Given the description of an element on the screen output the (x, y) to click on. 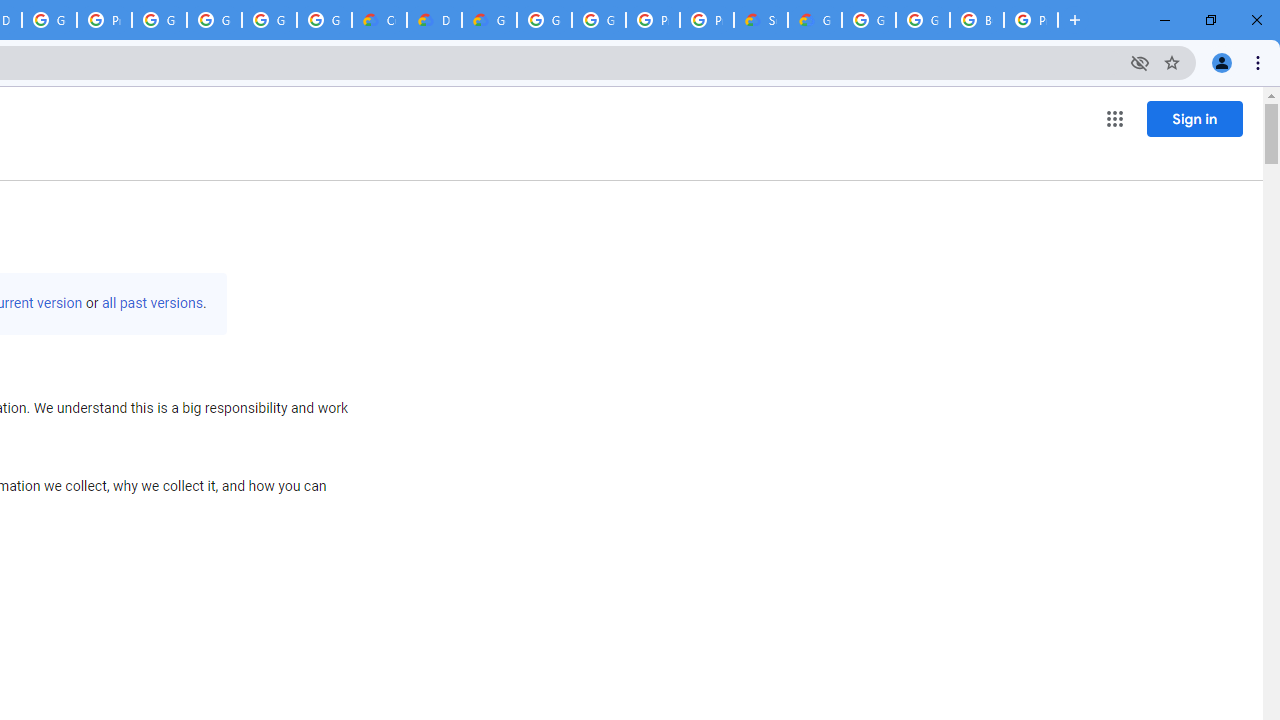
all past versions (152, 303)
Google Workspace - Specific Terms (268, 20)
Support Hub | Google Cloud (760, 20)
Google Workspace - Specific Terms (324, 20)
